Given the description of an element on the screen output the (x, y) to click on. 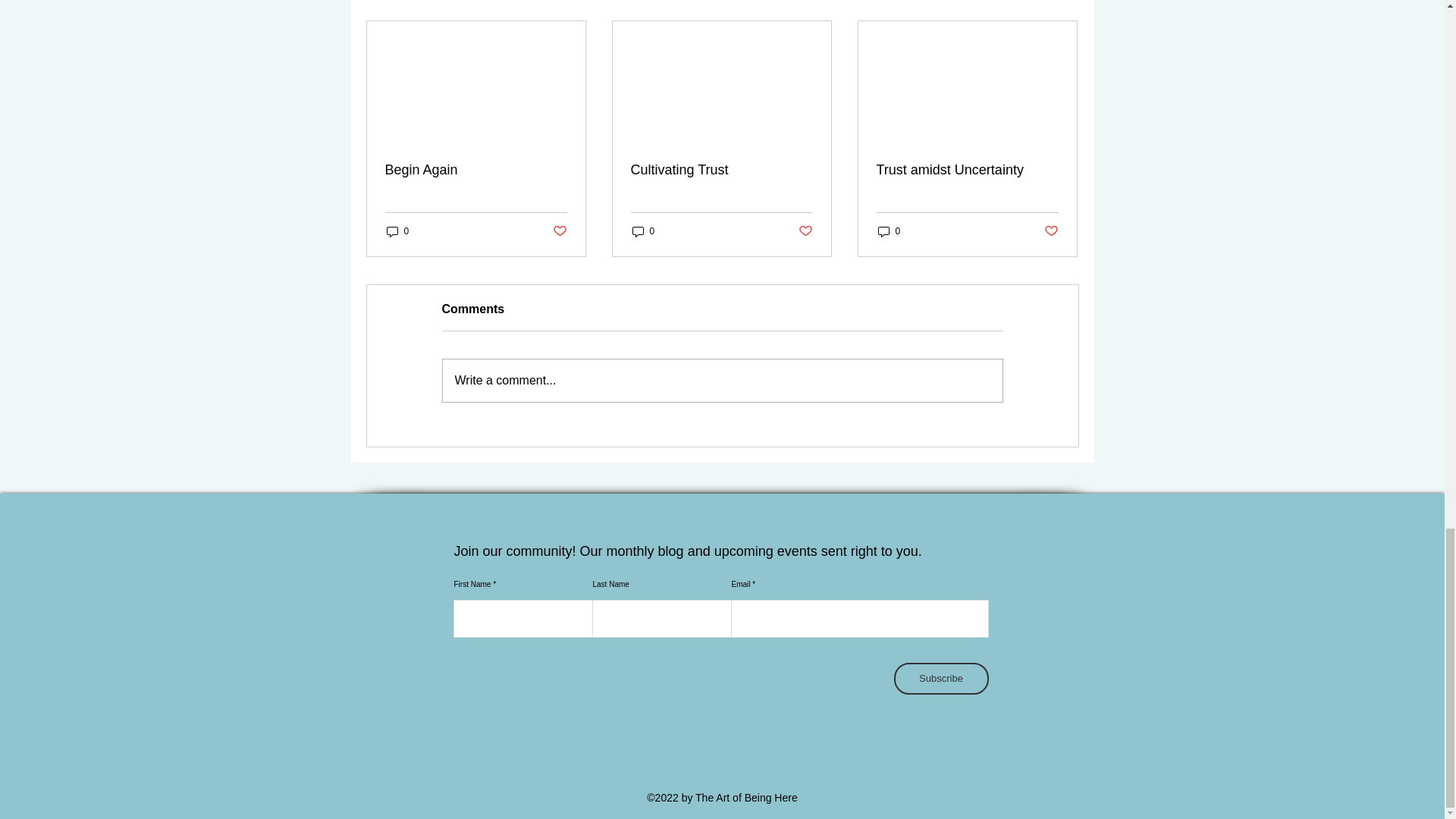
Cultivating Trust (721, 170)
Post not marked as liked (558, 231)
0 (397, 230)
0 (889, 230)
0 (643, 230)
Begin Again (476, 170)
See All (1061, 2)
Trust amidst Uncertainty (967, 170)
Post not marked as liked (804, 231)
